Given the description of an element on the screen output the (x, y) to click on. 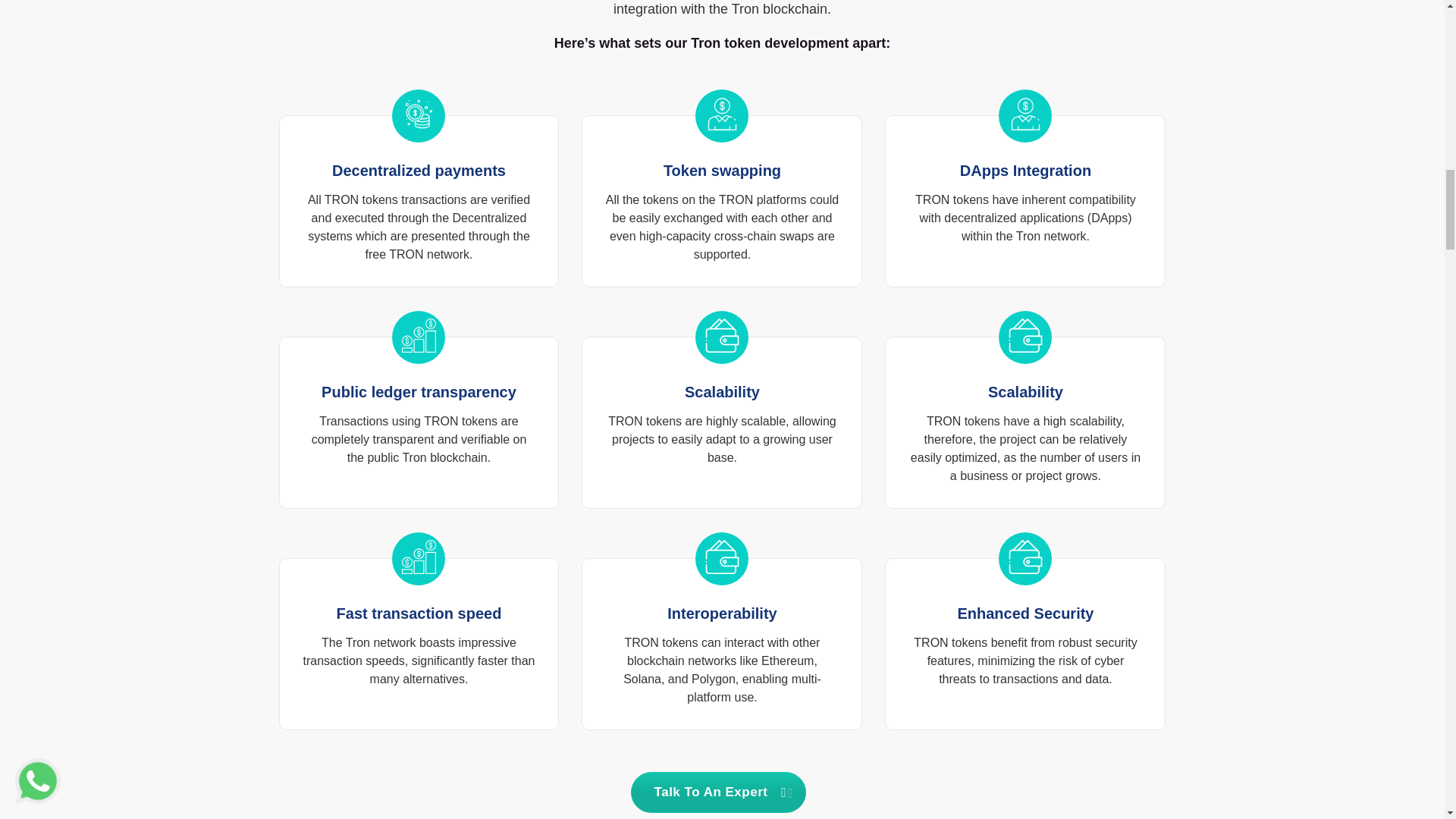
coins (418, 114)
bar-chart (418, 335)
dollar (1025, 114)
dollar (721, 114)
